Given the description of an element on the screen output the (x, y) to click on. 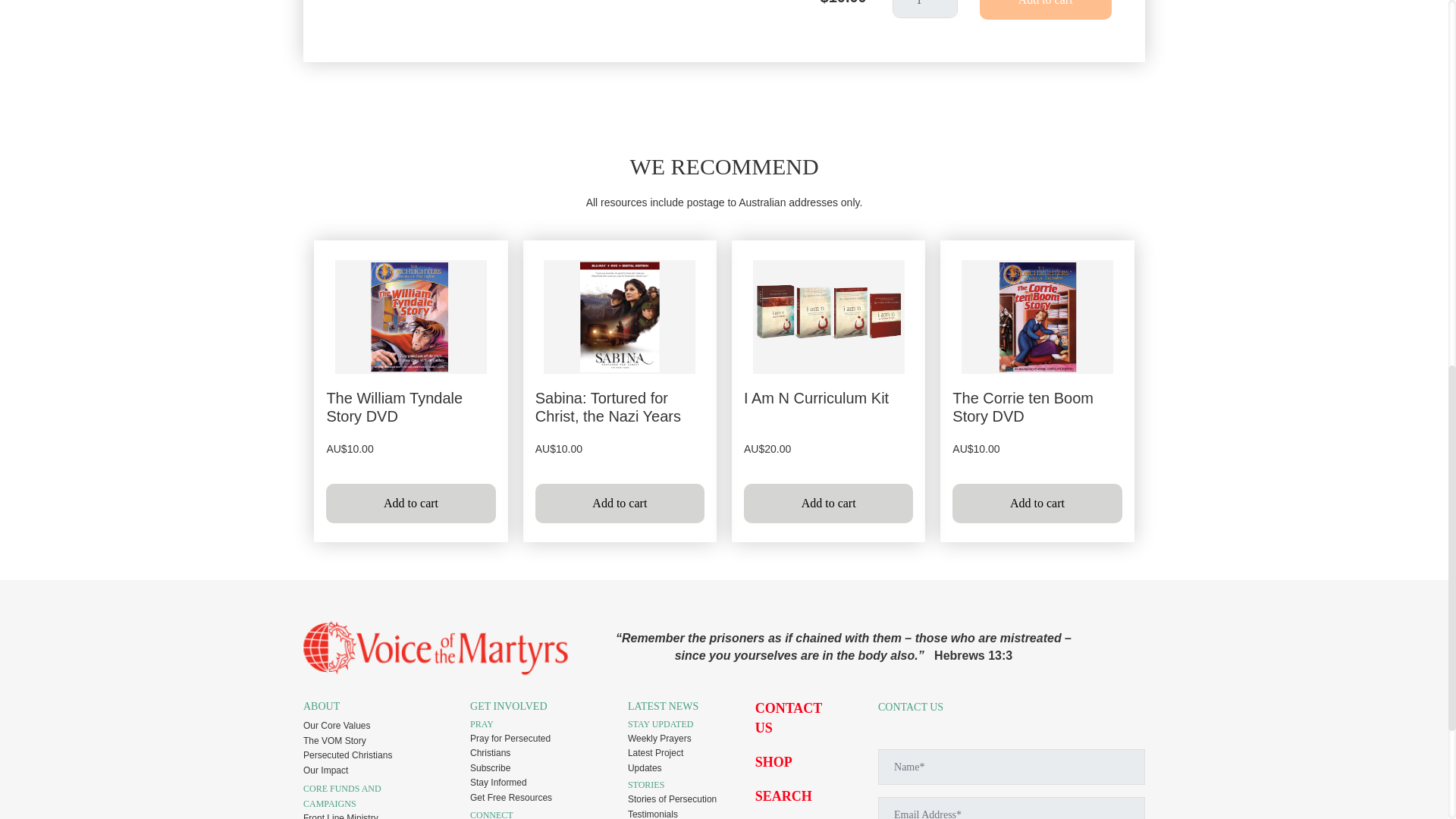
Qty (925, 9)
1 (925, 9)
